Given the description of an element on the screen output the (x, y) to click on. 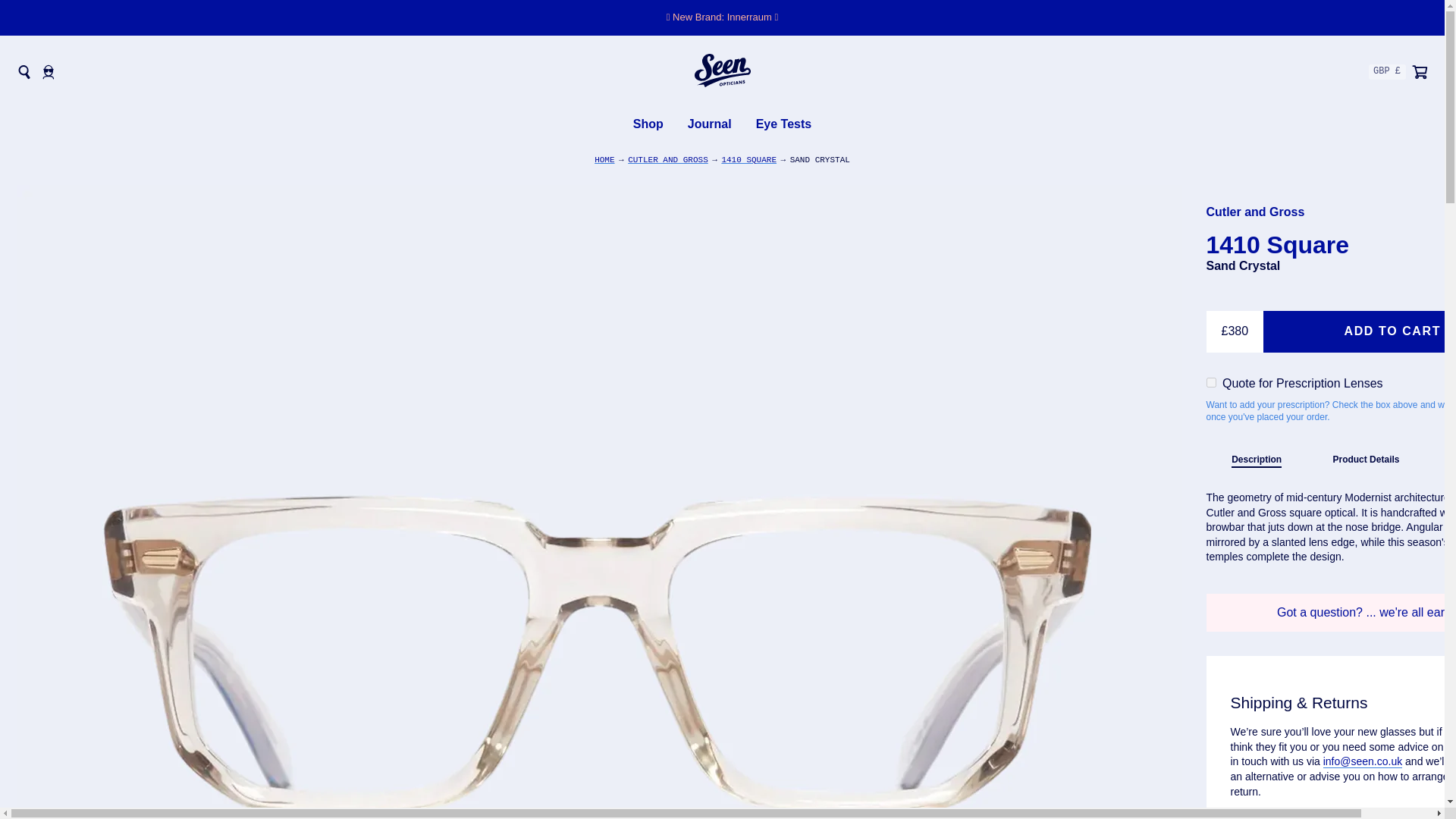
Shop (648, 123)
CUTLER AND GROSS (667, 160)
1410 SQUARE (748, 160)
HOME (604, 160)
Seen Opticians (722, 72)
Journal (709, 123)
Yes (1210, 382)
Eye Tests (783, 123)
Add to cart (1359, 331)
